Given the description of an element on the screen output the (x, y) to click on. 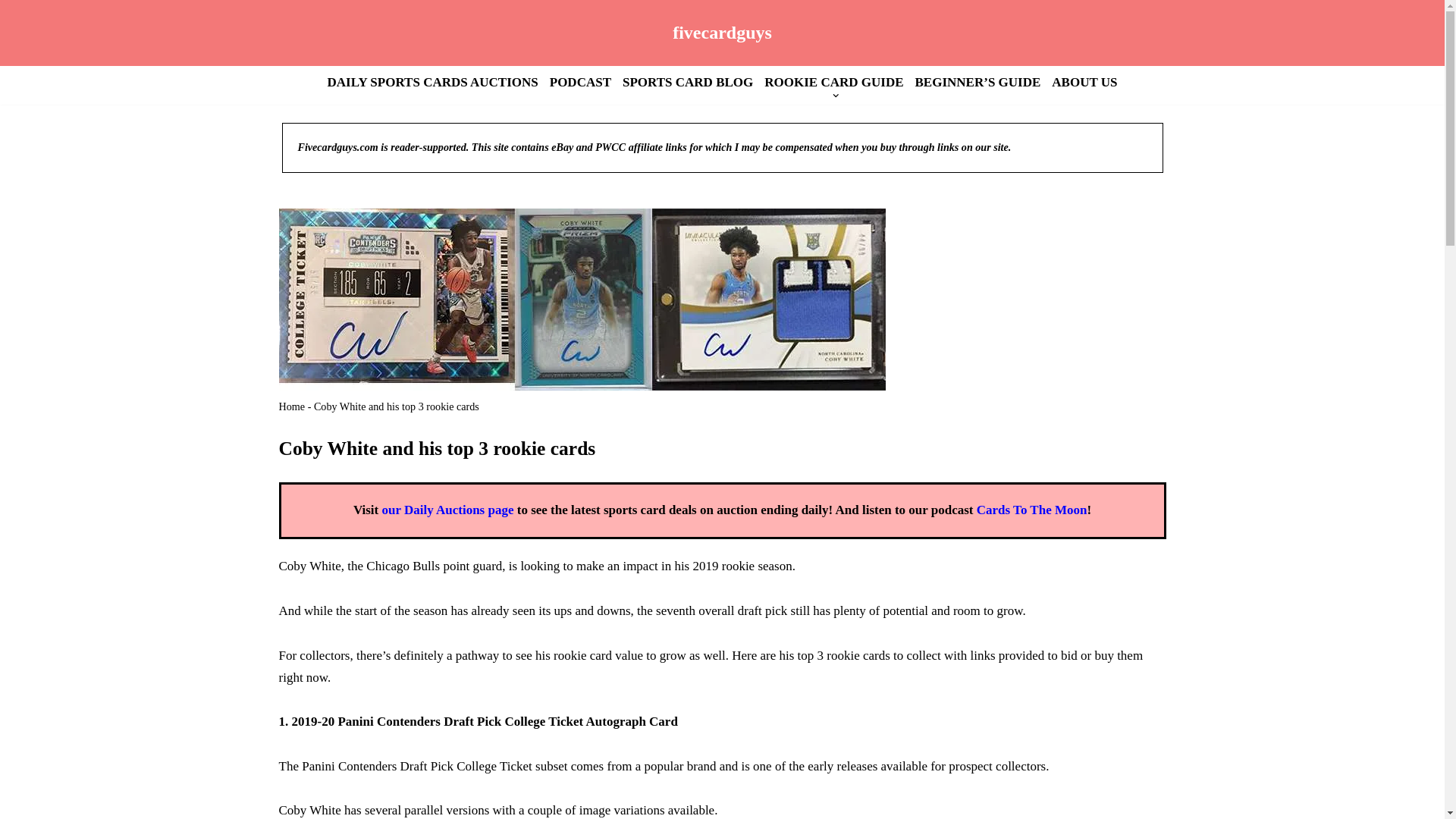
ABOUT US (1083, 82)
fivecardguys (721, 32)
ROOKIE CARD GUIDE (833, 82)
Skip to content (11, 31)
Cards To The Moon (1031, 509)
our Daily Auctions page (447, 509)
SPORTS CARD BLOG (687, 82)
DAILY SPORTS CARDS AUCTIONS (432, 82)
Home (292, 406)
PODCAST (580, 82)
